Given the description of an element on the screen output the (x, y) to click on. 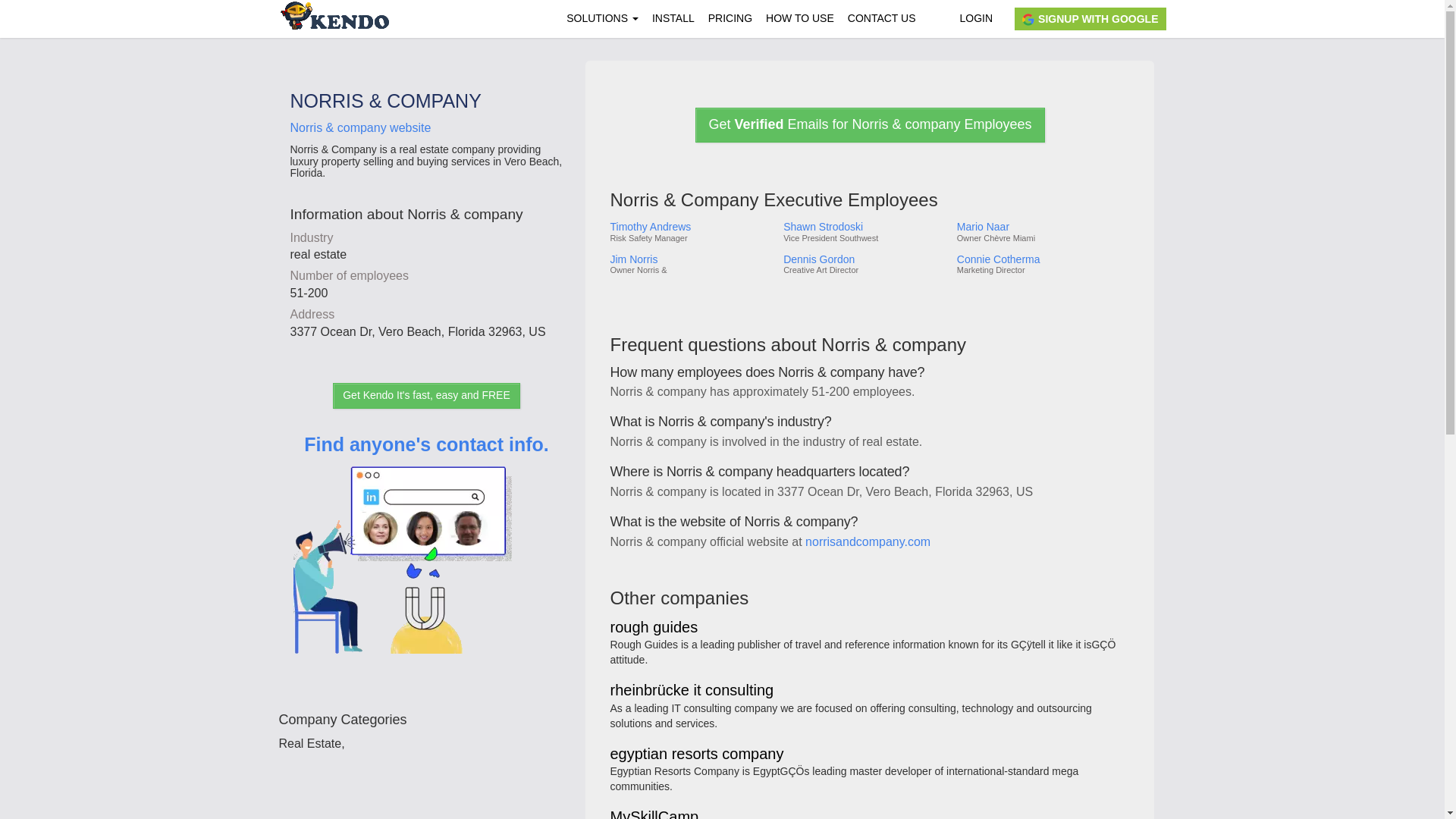
CONTACT US (882, 18)
Jim Norris (690, 259)
PRICING (729, 18)
Timothy Andrews (690, 226)
Find anyone's contact info. (425, 565)
Get Kendo It's fast, easy and FREE (426, 395)
SOLUTIONS (602, 18)
egyptian resorts company (696, 754)
MySkillCamp (654, 815)
HOW TO USE (799, 18)
SIGNUP WITH GOOGLE (1090, 18)
Shawn Strodoski (863, 226)
rough guides (653, 627)
Connie Cotherma (1041, 259)
INSTALL (673, 18)
